Given the description of an element on the screen output the (x, y) to click on. 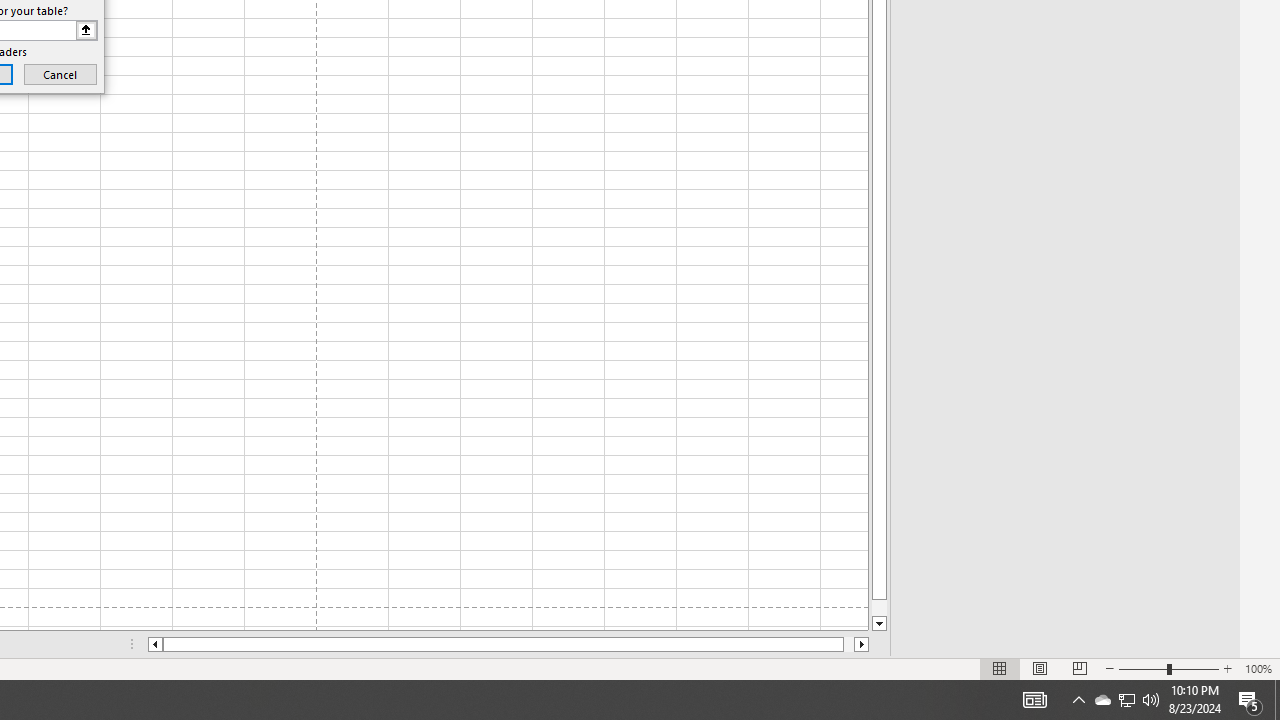
Column left (153, 644)
Zoom Out (1142, 668)
Class: NetUIScrollBar (507, 644)
Zoom (1168, 668)
Zoom In (1227, 668)
Line down (879, 624)
Page down (879, 607)
Normal (1000, 668)
Page Break Preview (1079, 668)
Column right (861, 644)
Page right (848, 644)
Page Layout (1039, 668)
